Given the description of an element on the screen output the (x, y) to click on. 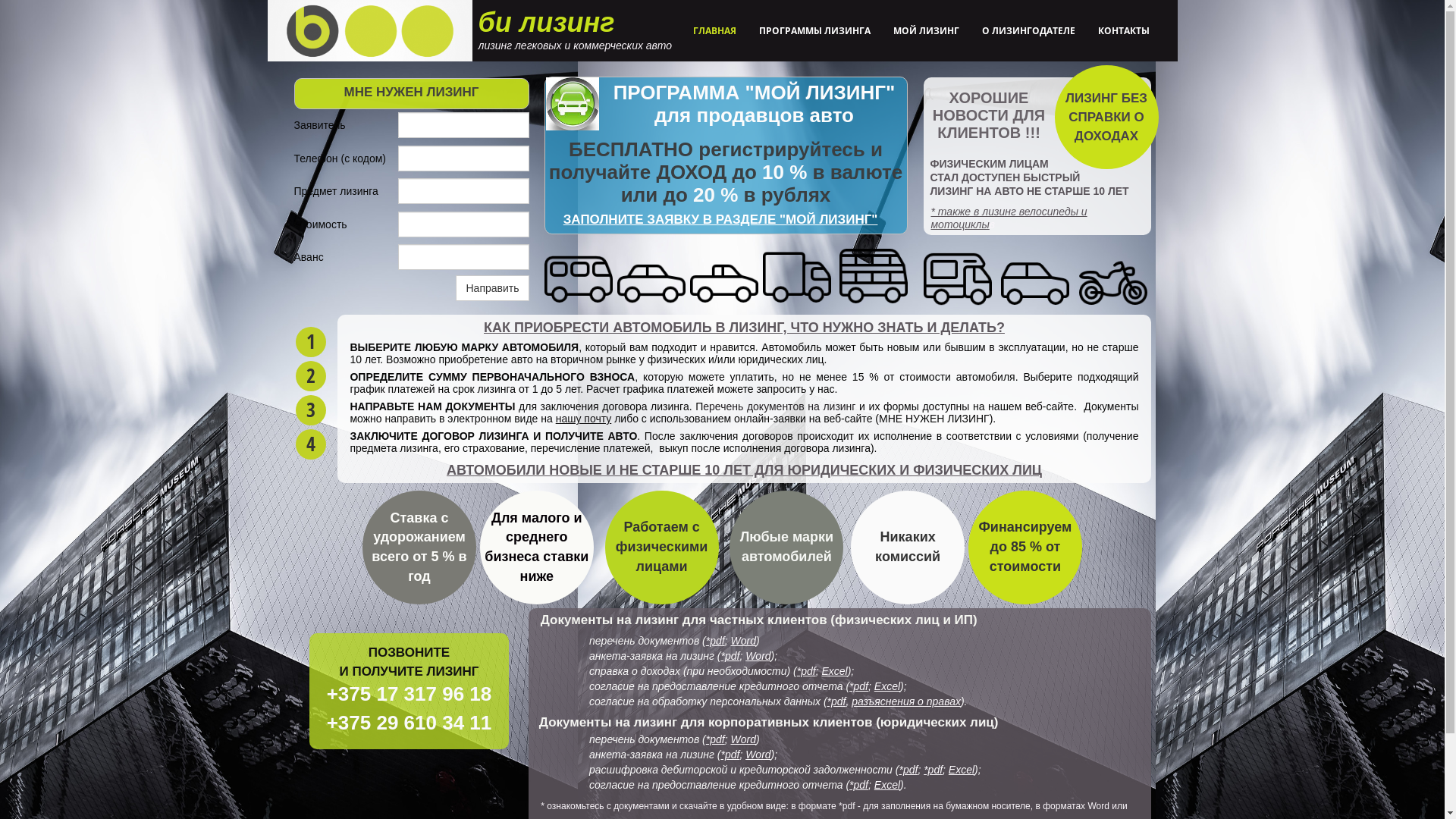
Excel Element type: text (887, 784)
Word Element type: text (757, 754)
*pdf Element type: text (806, 671)
*pdf Element type: text (729, 754)
Excel Element type: text (961, 769)
*pdf Element type: text (729, 655)
*pdf Element type: text (907, 769)
2 Element type: text (310, 375)
*pdf Element type: text (836, 701)
Word Element type: text (742, 640)
Excel Element type: text (887, 686)
*pdf Element type: text (932, 769)
*pdf Element type: text (715, 739)
*pdf Element type: text (858, 784)
4 Element type: text (310, 444)
*pdf Element type: text (858, 686)
1 Element type: text (310, 341)
3 Element type: text (310, 410)
Excel Element type: text (834, 671)
*pdf Element type: text (715, 640)
Word Element type: text (742, 739)
Word Element type: text (757, 655)
